Given the description of an element on the screen output the (x, y) to click on. 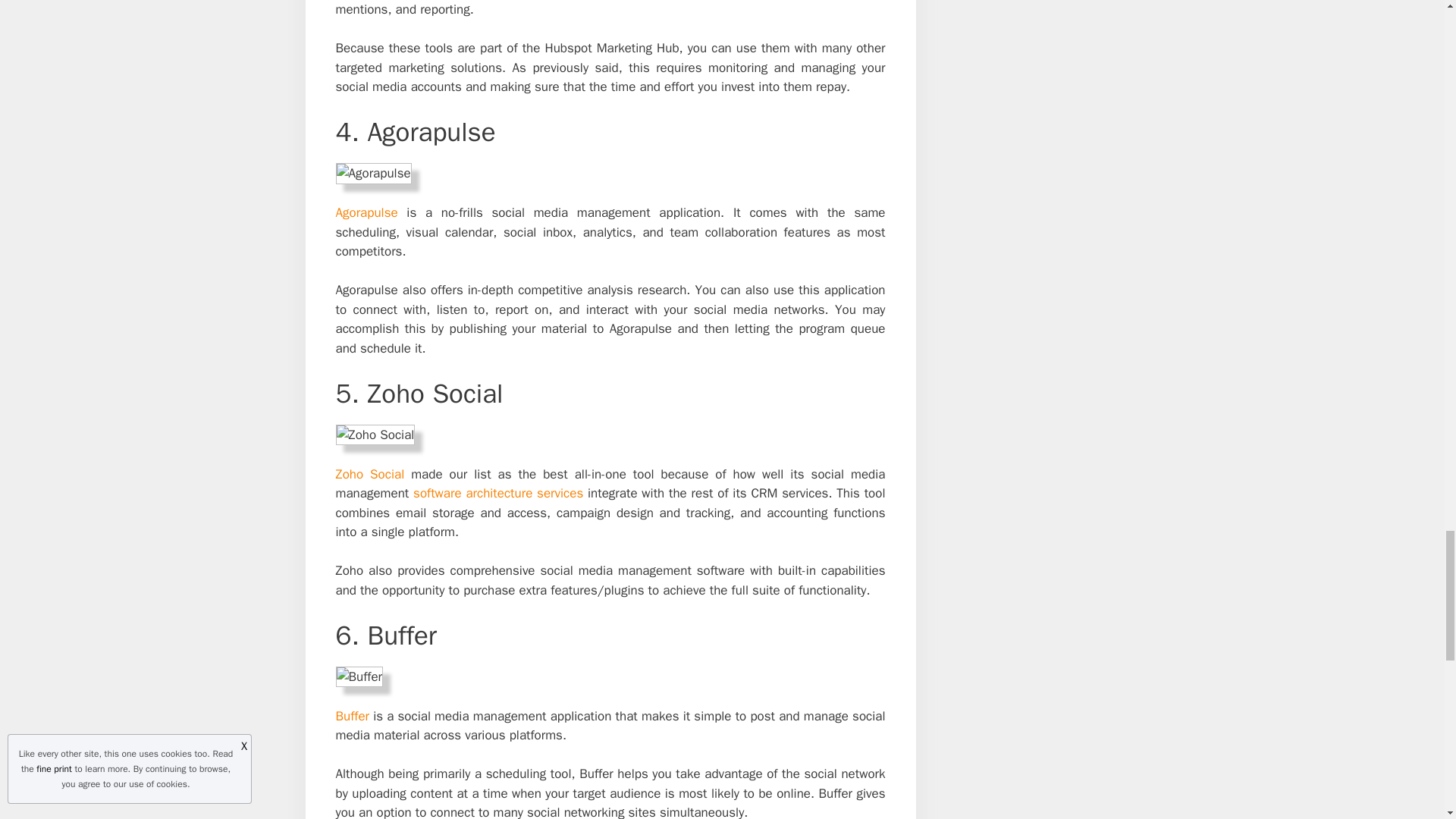
Zoho Social (369, 474)
Agorapulse (365, 212)
software architecture services (498, 493)
Buffer (351, 715)
